Given the description of an element on the screen output the (x, y) to click on. 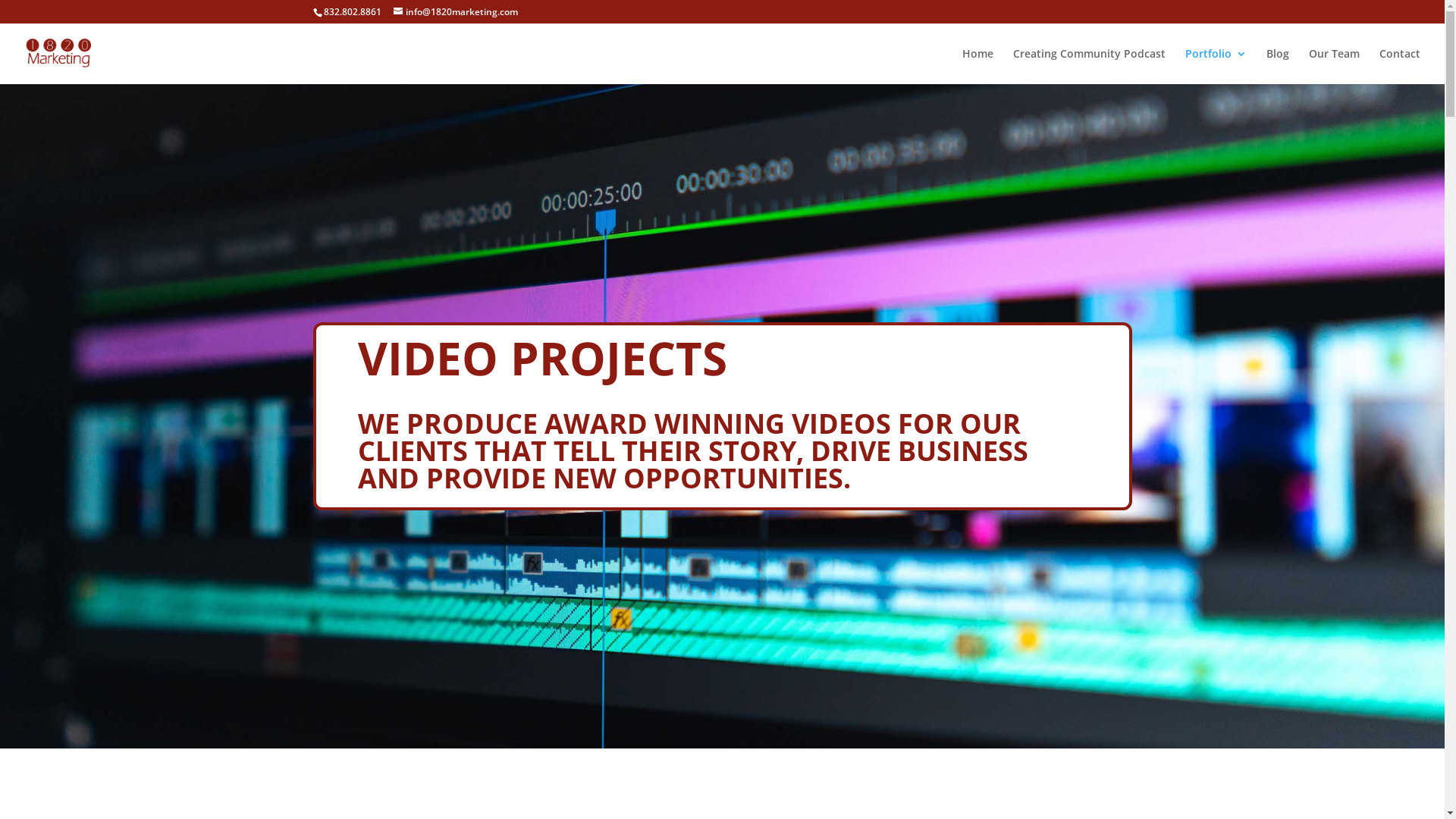
Creating Community Podcast Element type: text (1089, 66)
Our Team Element type: text (1333, 66)
Portfolio Element type: text (1215, 66)
Blog Element type: text (1277, 66)
Home Element type: text (977, 66)
Contact Element type: text (1399, 66)
info@1820marketing.com Element type: text (454, 11)
